Given the description of an element on the screen output the (x, y) to click on. 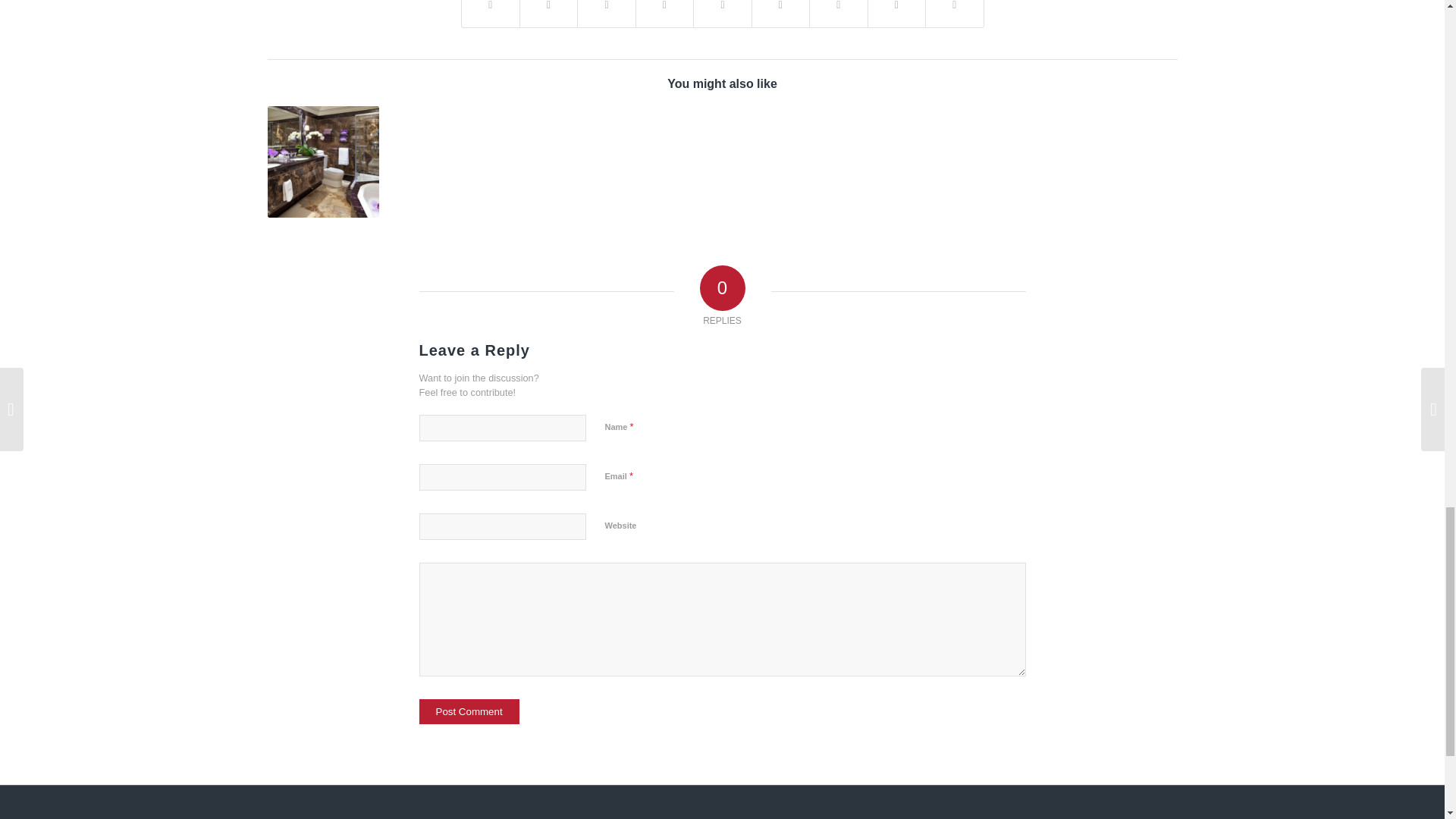
Post Comment (468, 711)
Post Comment (468, 711)
